Given the description of an element on the screen output the (x, y) to click on. 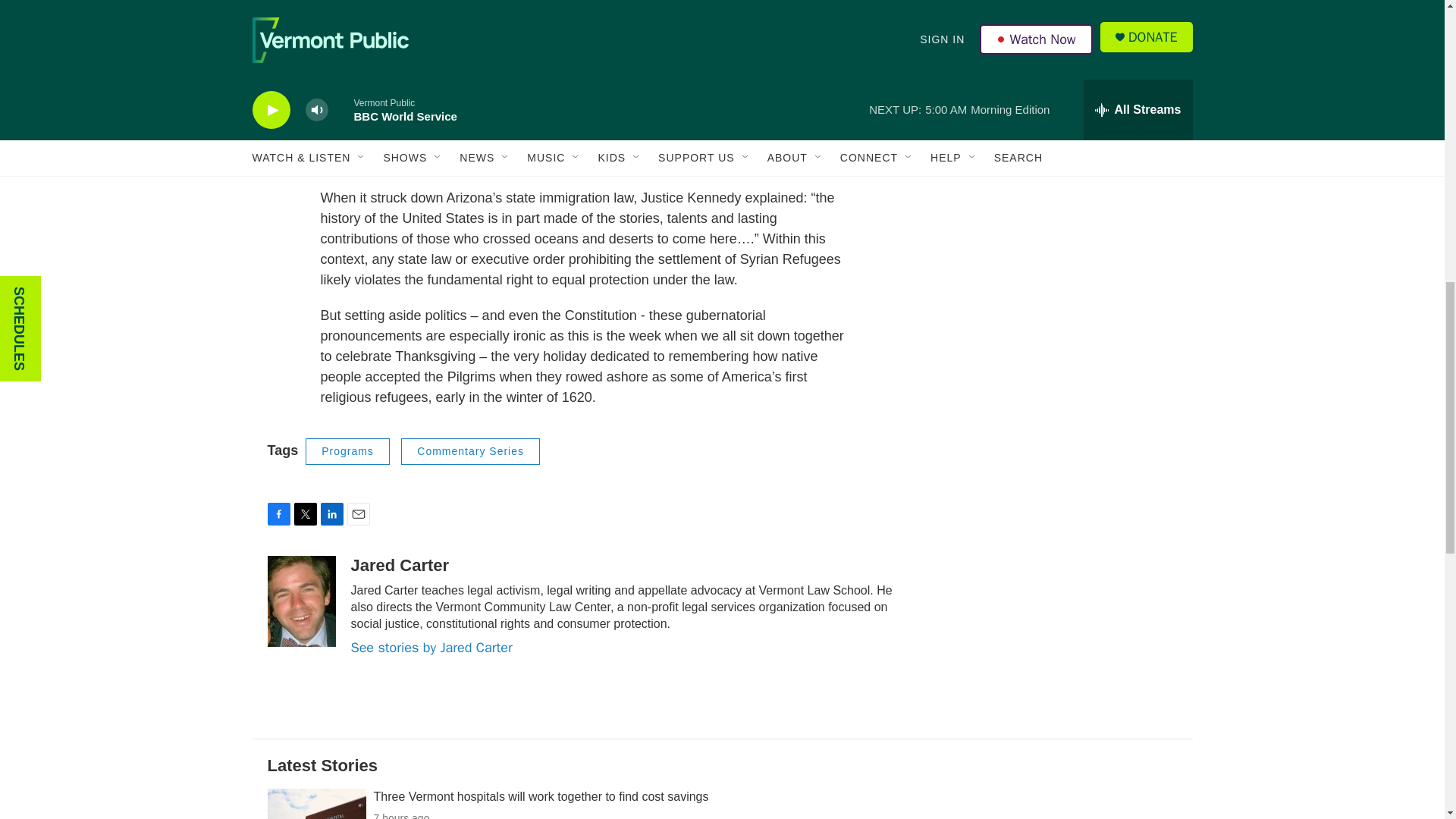
3rd party ad content (1062, 343)
3rd party ad content (1062, 124)
